Given the description of an element on the screen output the (x, y) to click on. 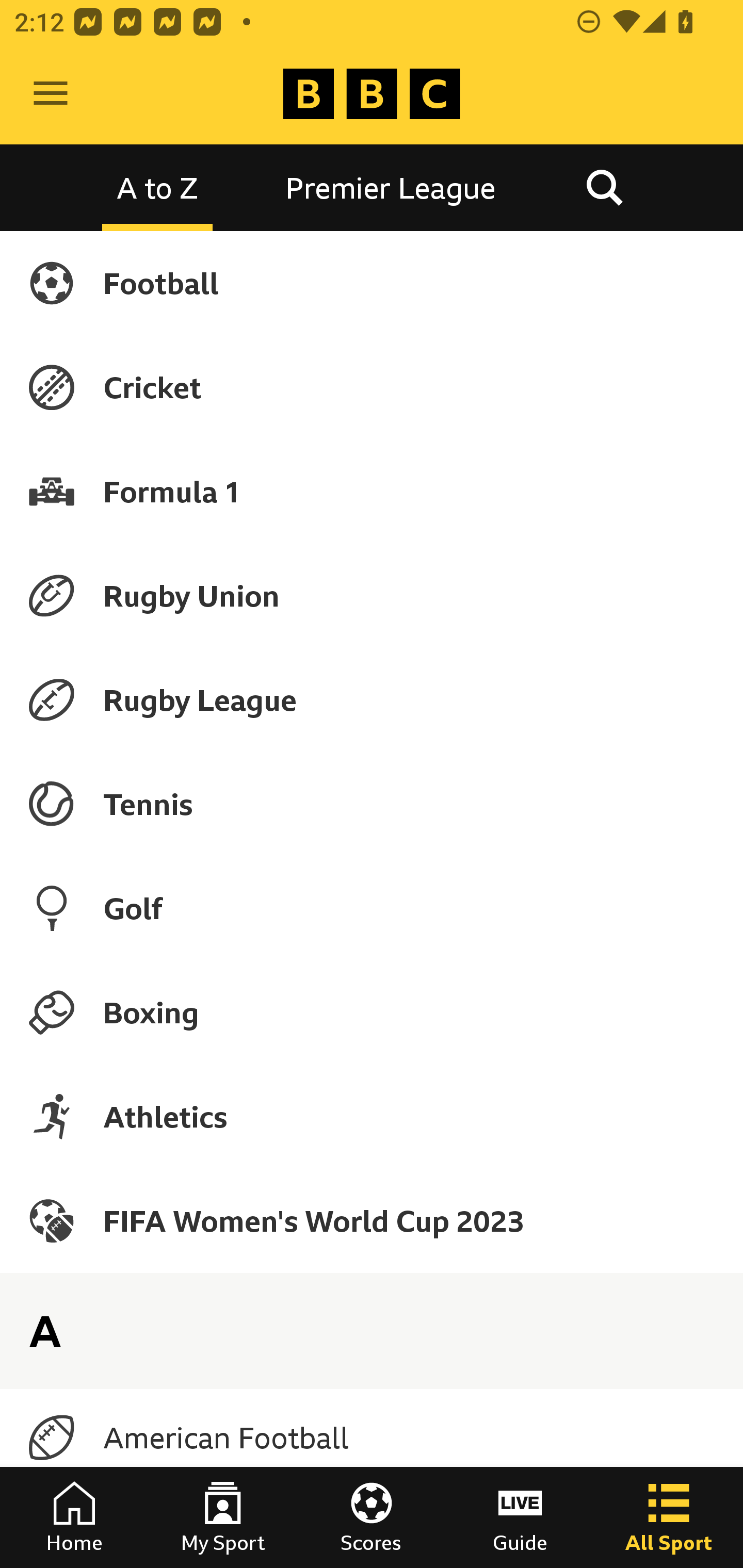
Open Menu (50, 93)
Premier League (390, 187)
Search (604, 187)
Football (371, 282)
Cricket (371, 387)
Formula 1 (371, 491)
Rugby Union (371, 595)
Rugby League (371, 699)
Tennis (371, 804)
Golf (371, 907)
Boxing (371, 1011)
Athletics (371, 1116)
FIFA Women's World Cup 2023 (371, 1220)
American Football (371, 1437)
Home (74, 1517)
My Sport (222, 1517)
Scores (371, 1517)
Guide (519, 1517)
